Given the description of an element on the screen output the (x, y) to click on. 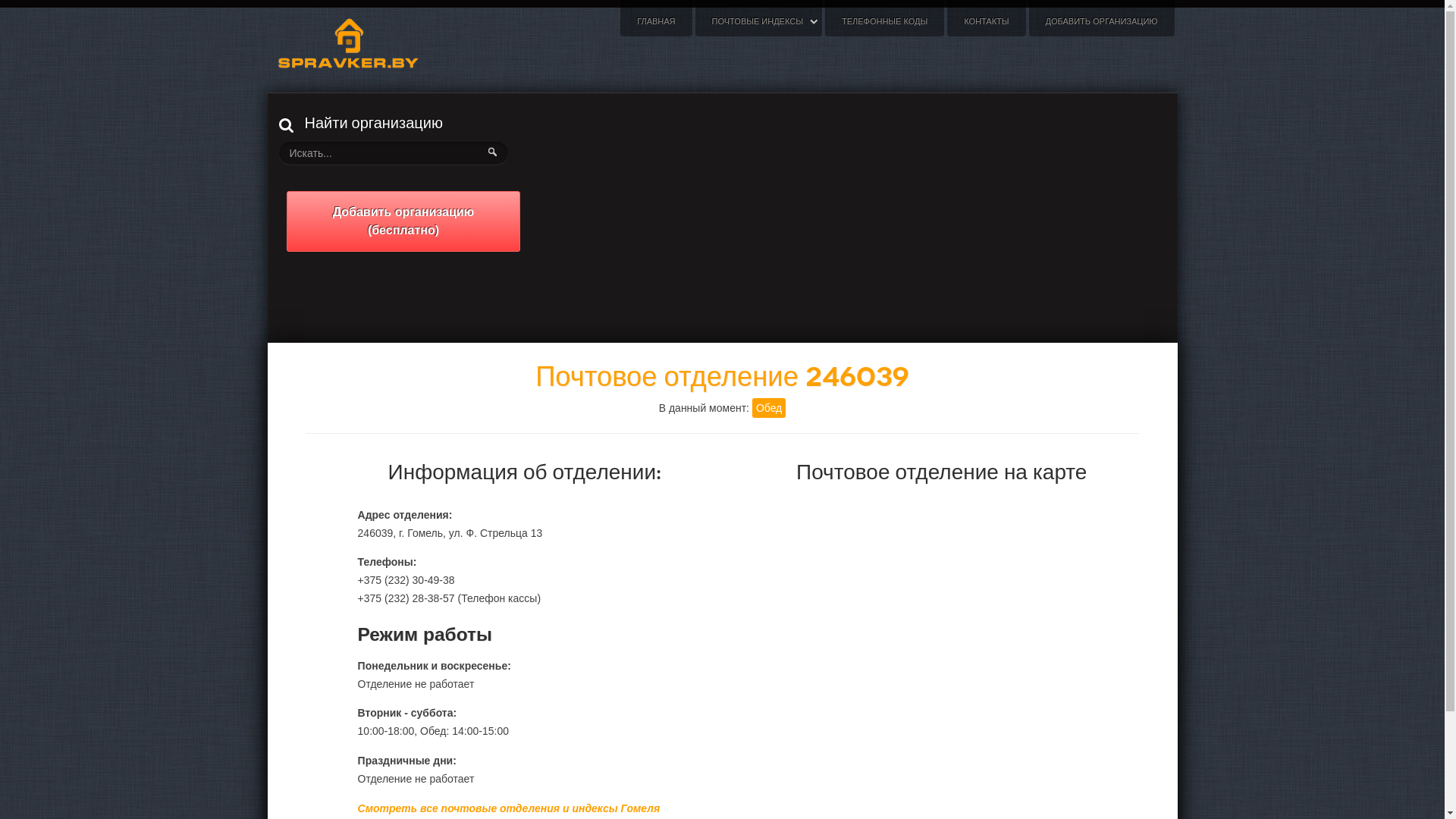
Advertisement Element type: hover (1025, 217)
Advertisement Element type: hover (722, 217)
